Given the description of an element on the screen output the (x, y) to click on. 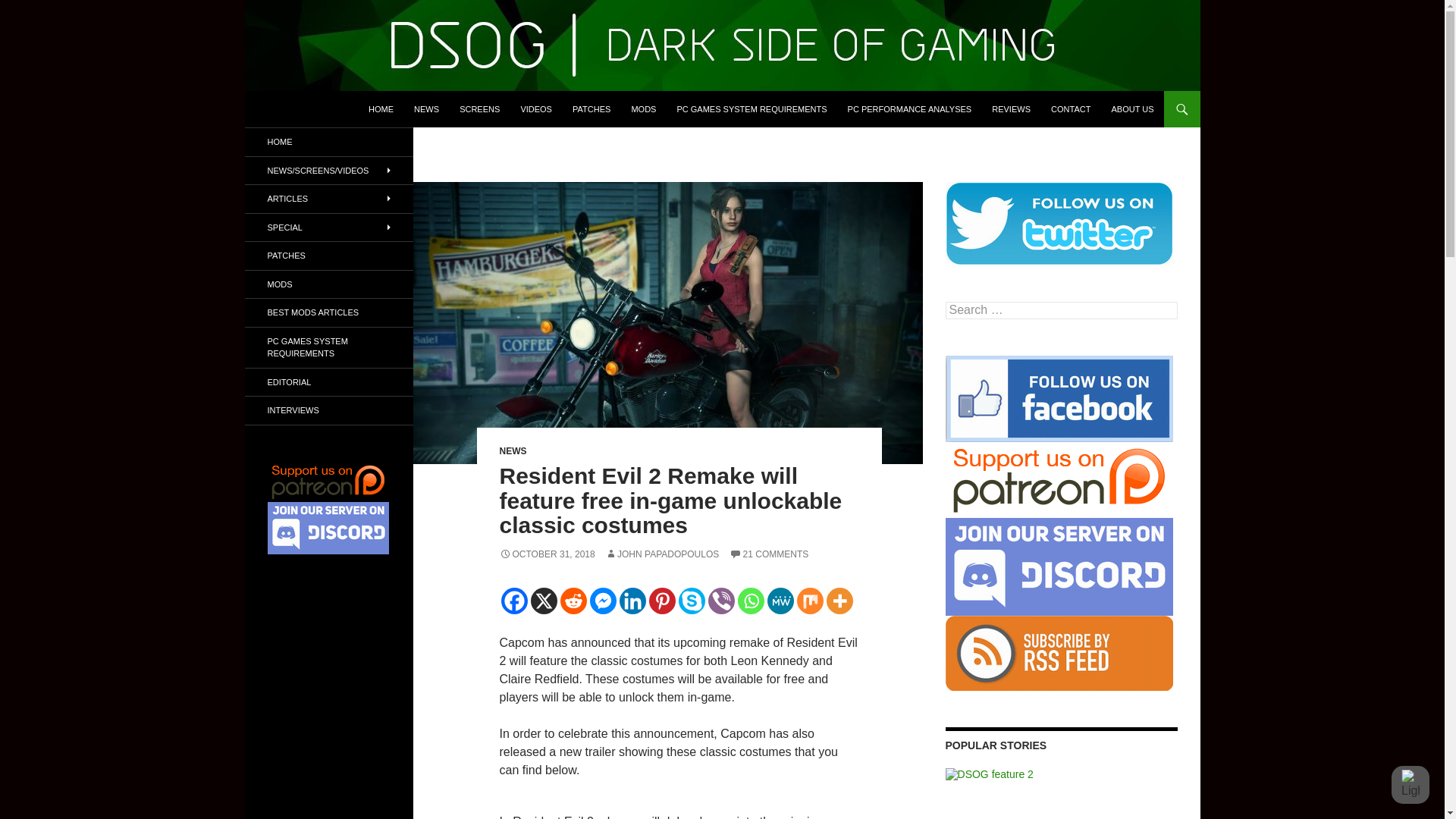
NEWS (426, 108)
Skype (691, 601)
Mix (809, 601)
MODS (643, 108)
HOME (381, 108)
X (544, 601)
MeWe (780, 601)
Whatsapp (749, 601)
Pinterest (662, 601)
VIDEOS (535, 108)
ABOUT US (1131, 108)
PC GAMES SYSTEM REQUIREMENTS (750, 108)
SCREENS (478, 108)
